Given the description of an element on the screen output the (x, y) to click on. 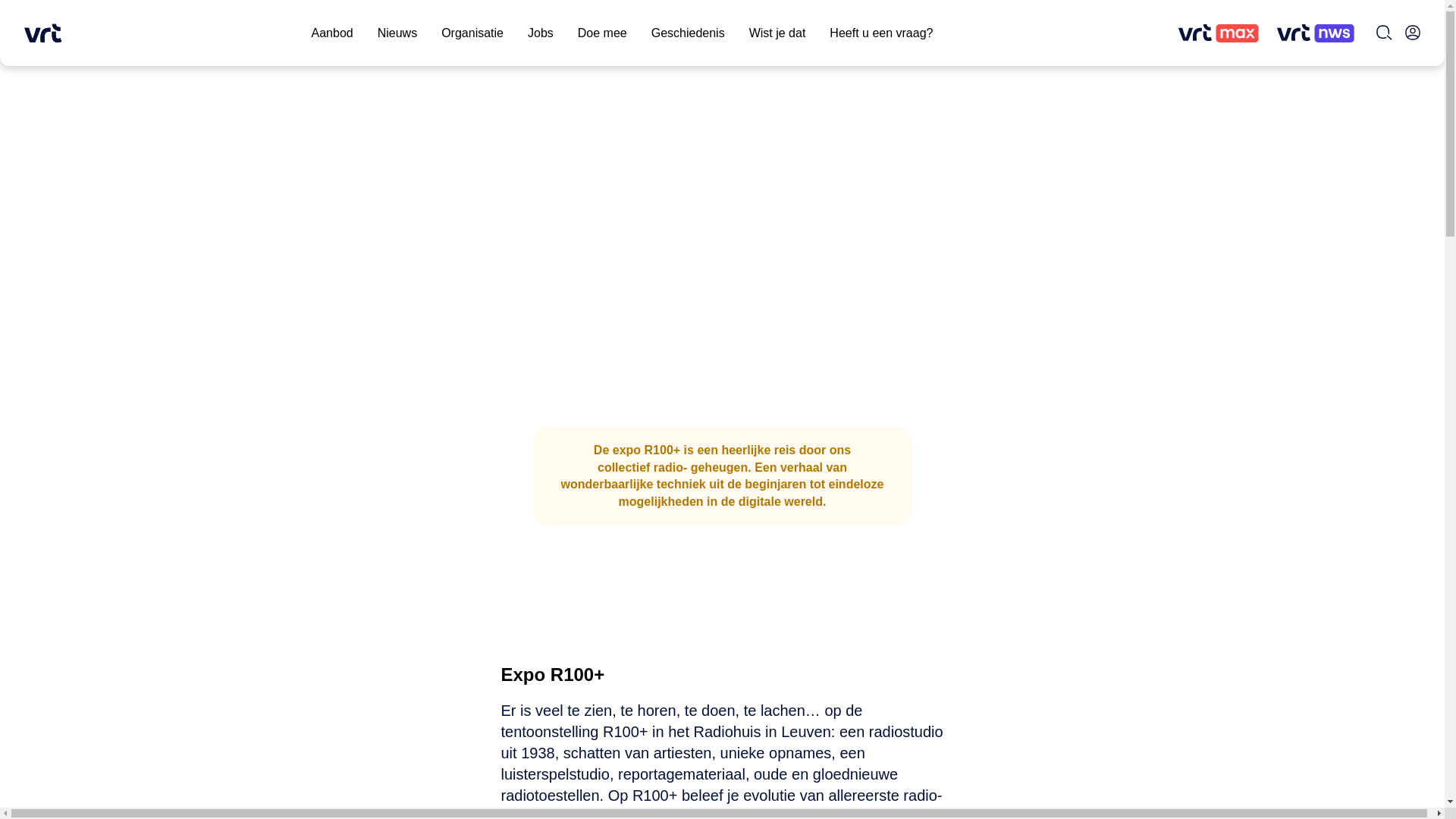
Doe mee Element type: text (602, 32)
Jobs Element type: text (540, 32)
Aanbod Element type: text (332, 32)
Nieuws Element type: text (397, 32)
Wist je dat Element type: text (777, 32)
Organisatie Element type: text (472, 32)
Heeft u een vraag? Element type: text (880, 32)
Geschiedenis Element type: text (687, 32)
